Given the description of an element on the screen output the (x, y) to click on. 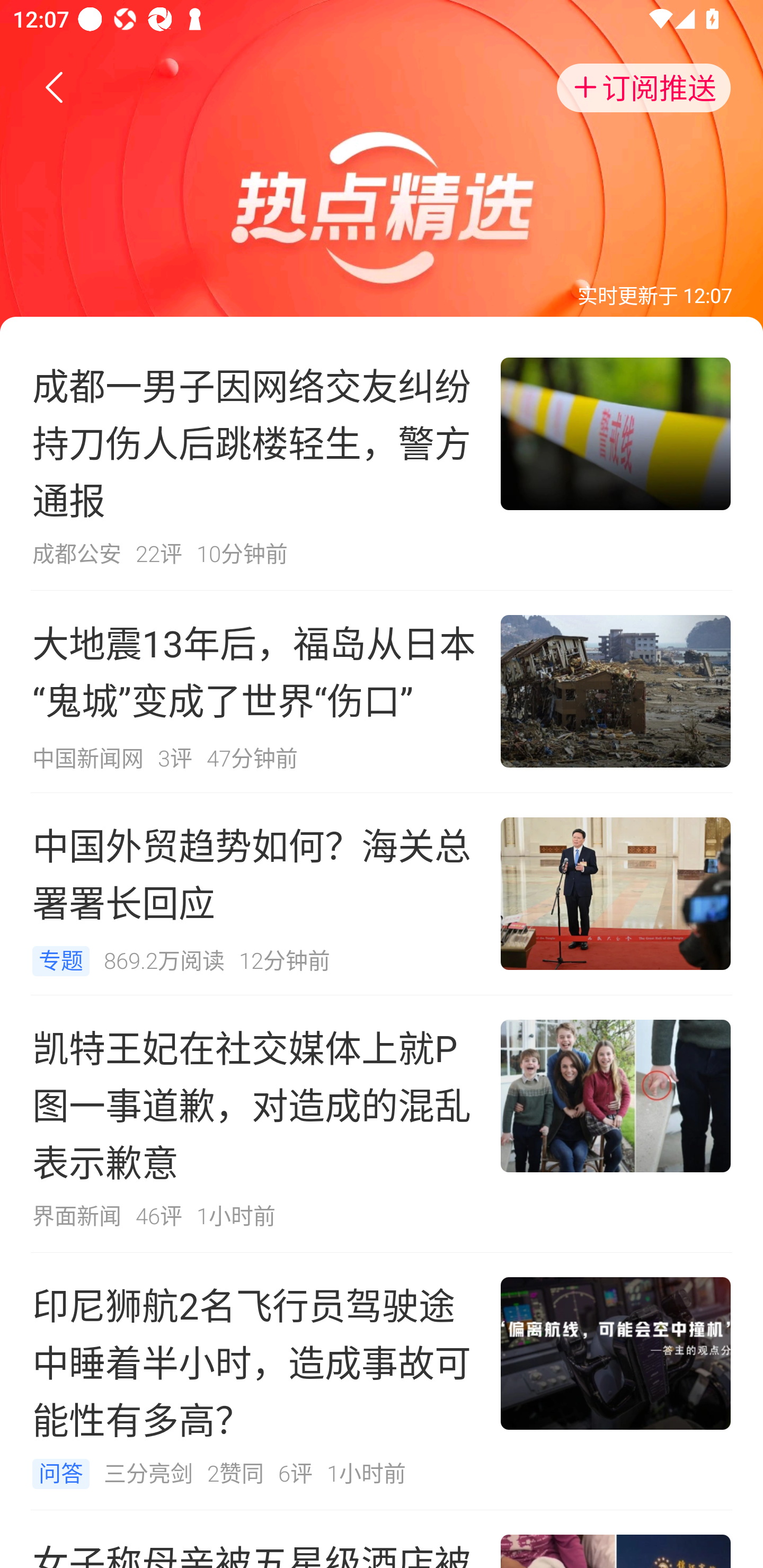
 订阅推送 实时更新于 12:07 (381, 166)
 返回 (54, 87)
 订阅推送 (643, 88)
成都一男子因网络交友纠纷持刀伤人后跳楼轻生，警方通报 成都公安 22评 10分钟前 (381, 460)
大地震13年后，福岛从日本“鬼城”变成了世界“伤口” 中国新闻网 3评 47分钟前 (381, 691)
中国外贸趋势如何？海关总署署长回应 专题 869.2万阅读 12分钟前 (381, 893)
凯特王妃在社交媒体上就P图一事道歉，对造成的混乱表示歉意 界面新闻 46评 1小时前 (381, 1123)
印尼狮航2名飞行员驾驶途中睡着半小时，造成事故可能性有多高？ 问答 三分亮剑 2赞同 6评 1小时前 (381, 1380)
